Given the description of an element on the screen output the (x, y) to click on. 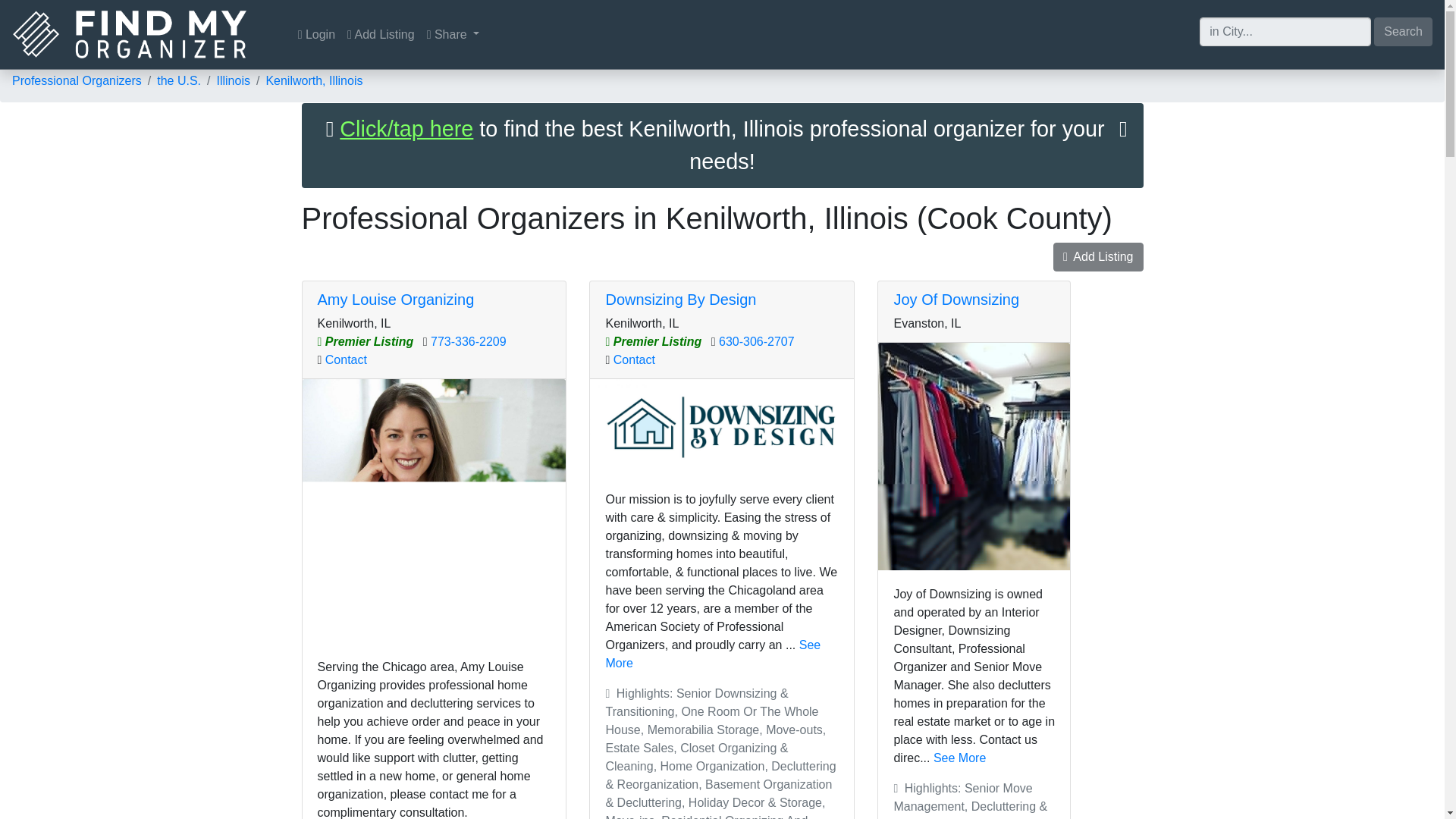
the U.S. (178, 80)
Add Listing (1097, 256)
773-336-2209 (468, 341)
Add Listing (380, 34)
Illinois (231, 80)
Contact (345, 359)
Professional Organizers (76, 80)
Downsizing By Design (680, 299)
See More (959, 757)
Amy Louise Organizing (395, 299)
